Given the description of an element on the screen output the (x, y) to click on. 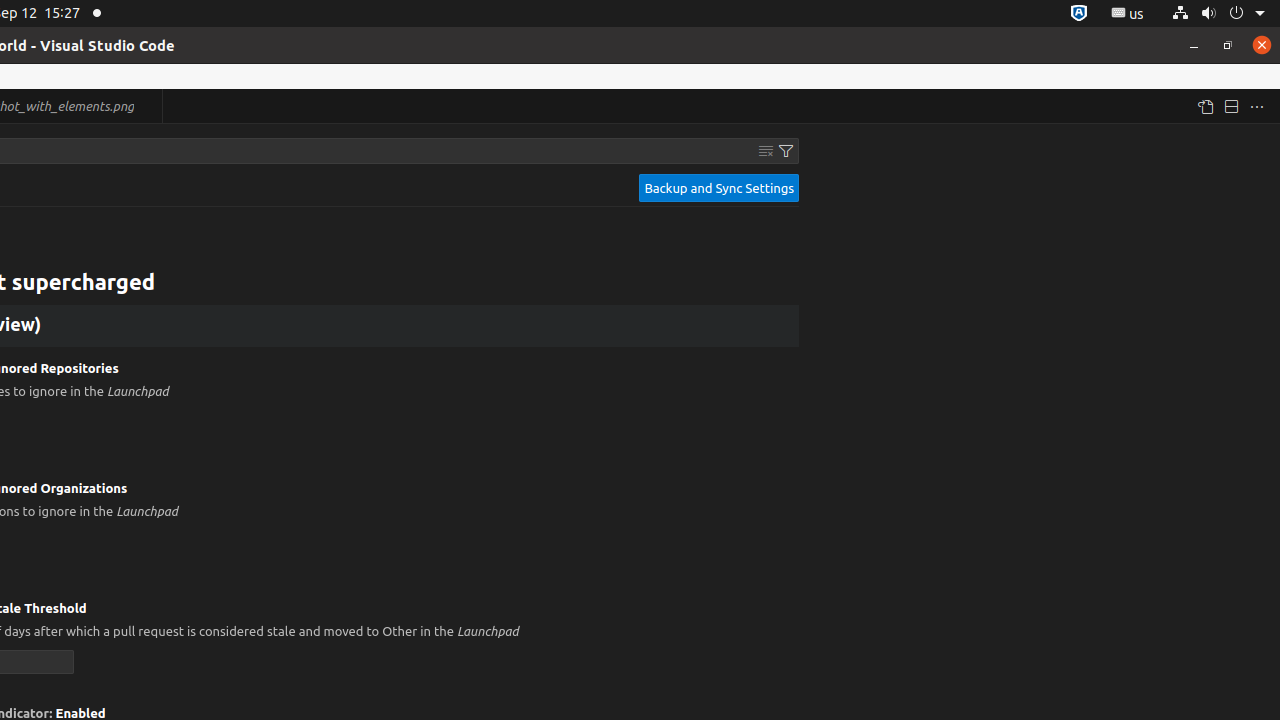
Open Settings (JSON) Element type: push-button (1205, 106)
Split Editor Right (Ctrl+\) [Alt] Split Editor Down Element type: push-button (1231, 106)
Clear Settings Search Input Element type: push-button (766, 151)
Close (Ctrl+W) Element type: push-button (148, 106)
